Given the description of an element on the screen output the (x, y) to click on. 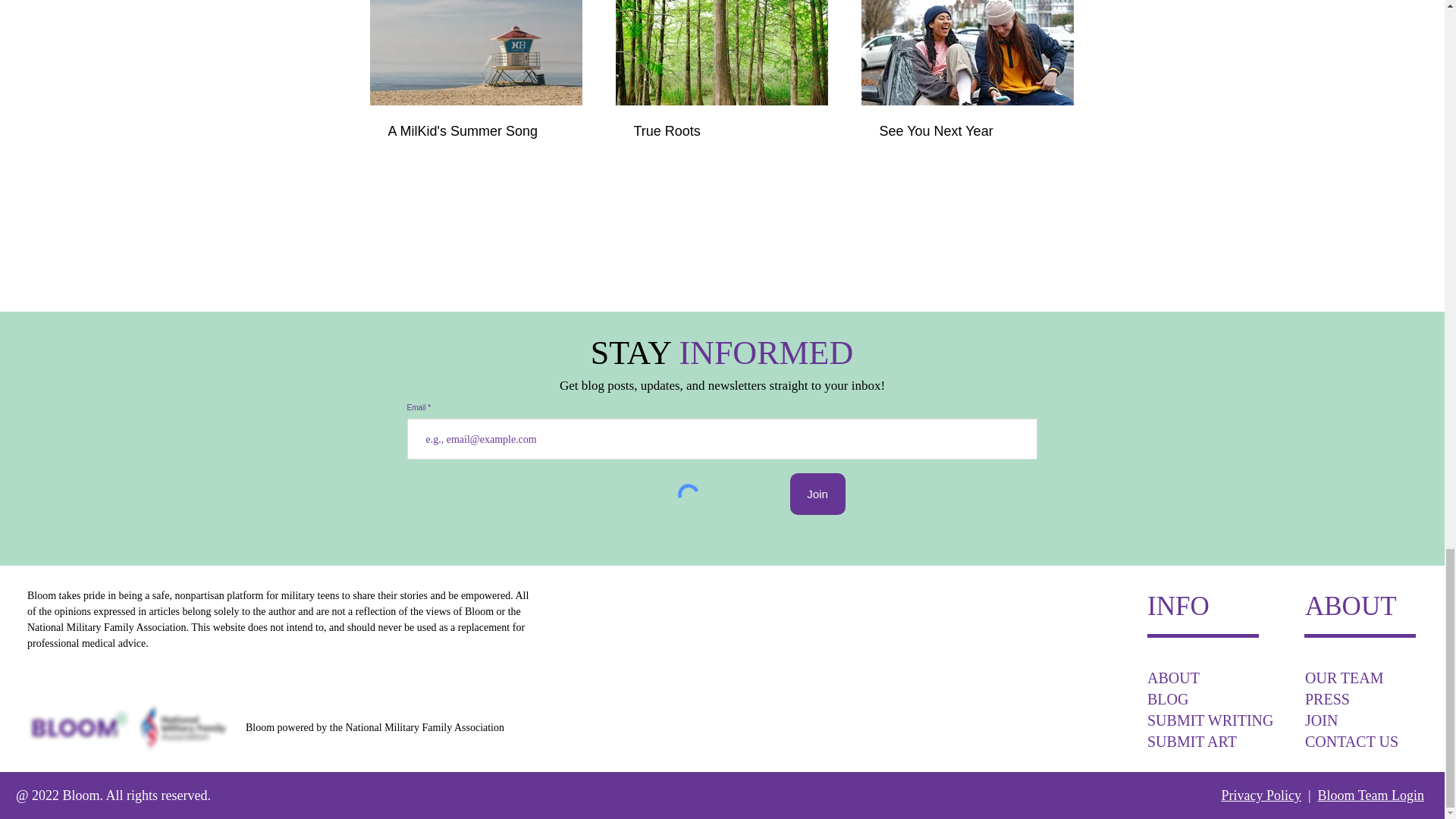
True Roots (721, 131)
A MilKid's Summer Song (476, 131)
